Given the description of an element on the screen output the (x, y) to click on. 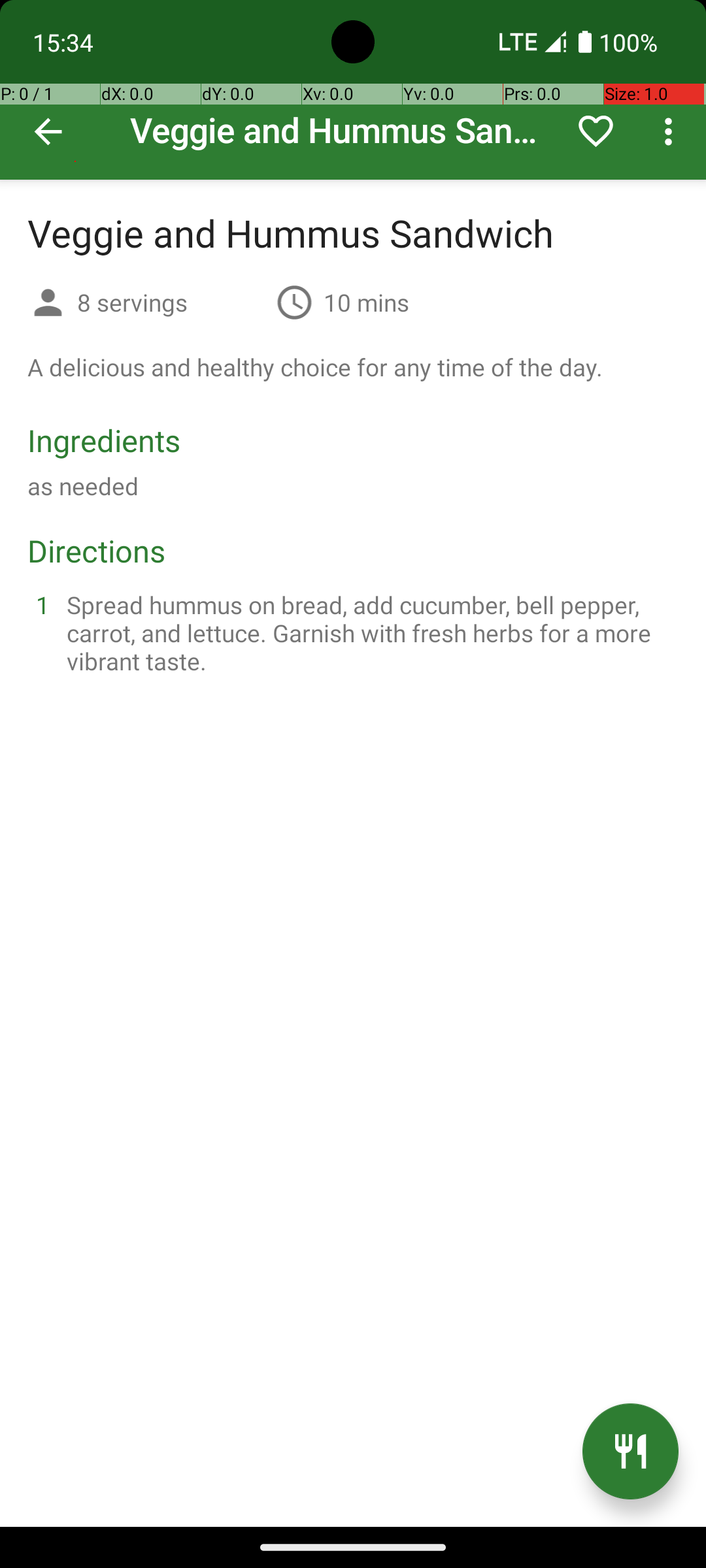
Veggie and Hummus Sandwich Element type: android.widget.FrameLayout (353, 89)
Spread hummus on bread, add cucumber, bell pepper, carrot, and lettuce. Garnish with fresh herbs for a more vibrant taste. Element type: android.widget.TextView (368, 632)
